Given the description of an element on the screen output the (x, y) to click on. 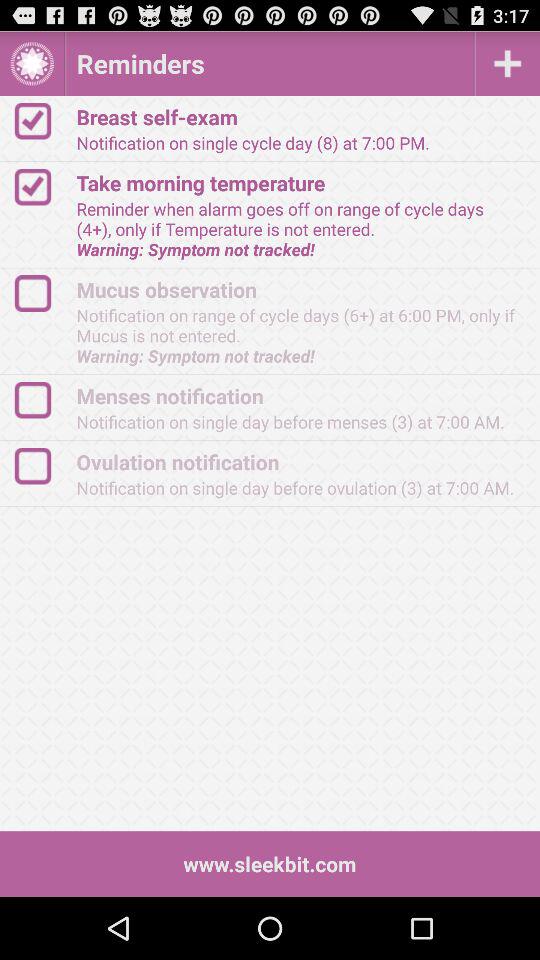
moire (507, 63)
